Given the description of an element on the screen output the (x, y) to click on. 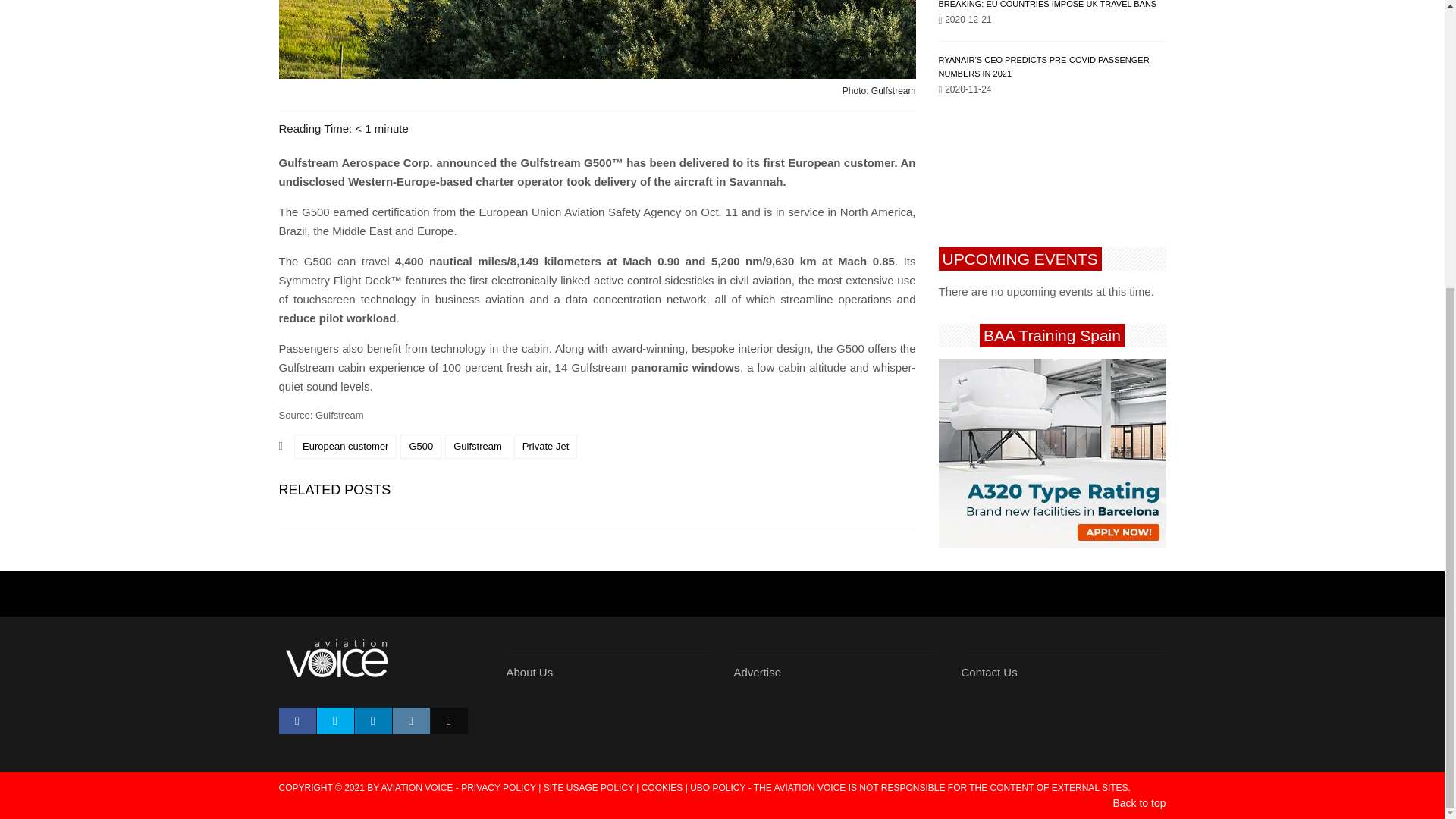
European customer (345, 446)
